Given the description of an element on the screen output the (x, y) to click on. 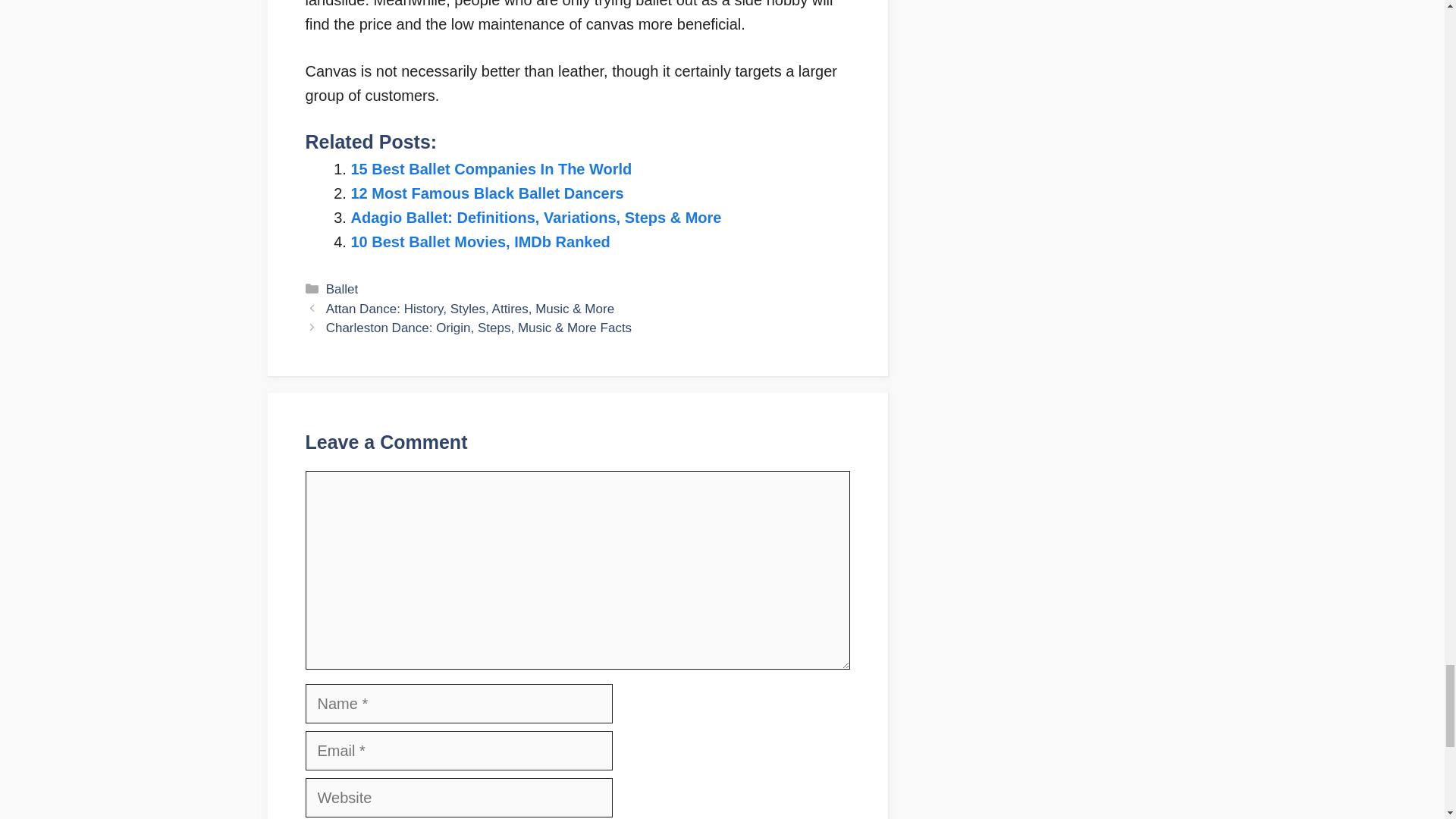
15 Best Ballet Companies In The World (490, 168)
12 Most Famous Black Ballet Dancers (486, 193)
10 Best Ballet Movies, IMDb Ranked (480, 241)
